Given the description of an element on the screen output the (x, y) to click on. 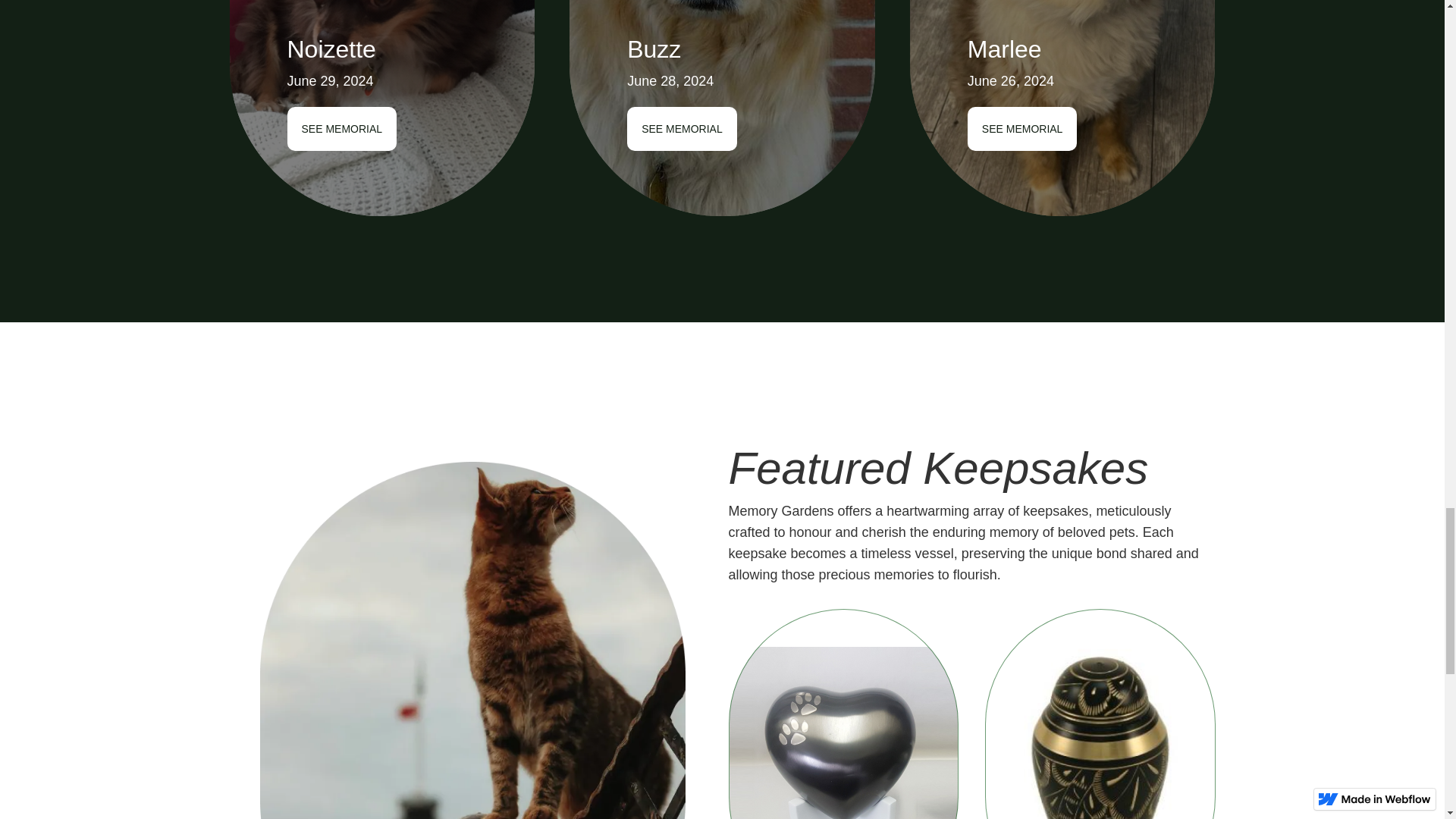
SEE MEMORIAL (681, 128)
SEE MEMORIAL (1022, 128)
SEE MEMORIAL (341, 128)
